Given the description of an element on the screen output the (x, y) to click on. 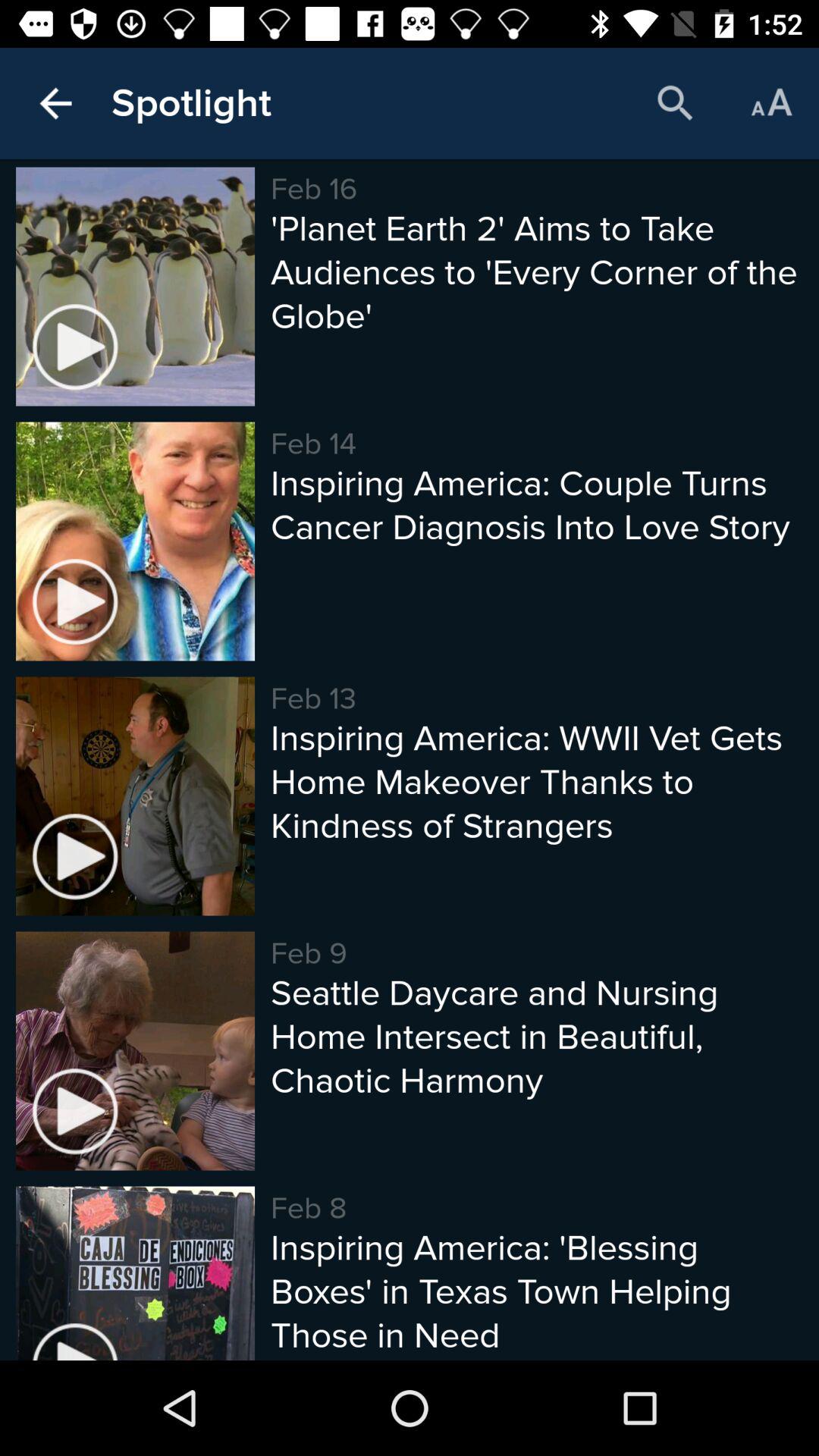
click icon to the left of feb 16 icon (191, 103)
